Given the description of an element on the screen output the (x, y) to click on. 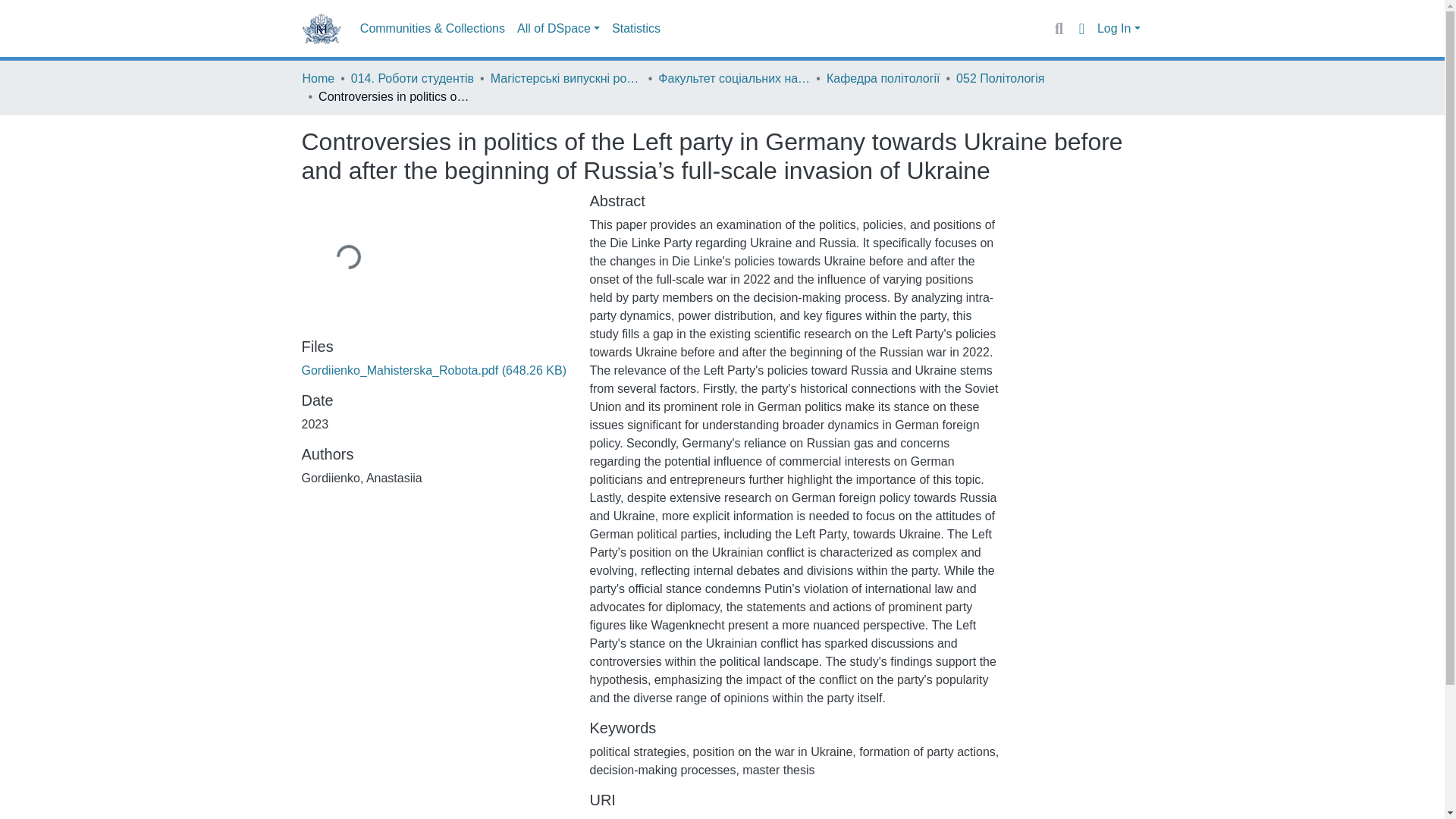
Log In (1118, 28)
Statistics (635, 28)
Statistics (635, 28)
Home (317, 78)
All of DSpace (558, 28)
Language switch (1081, 28)
Search (1058, 28)
